Given the description of an element on the screen output the (x, y) to click on. 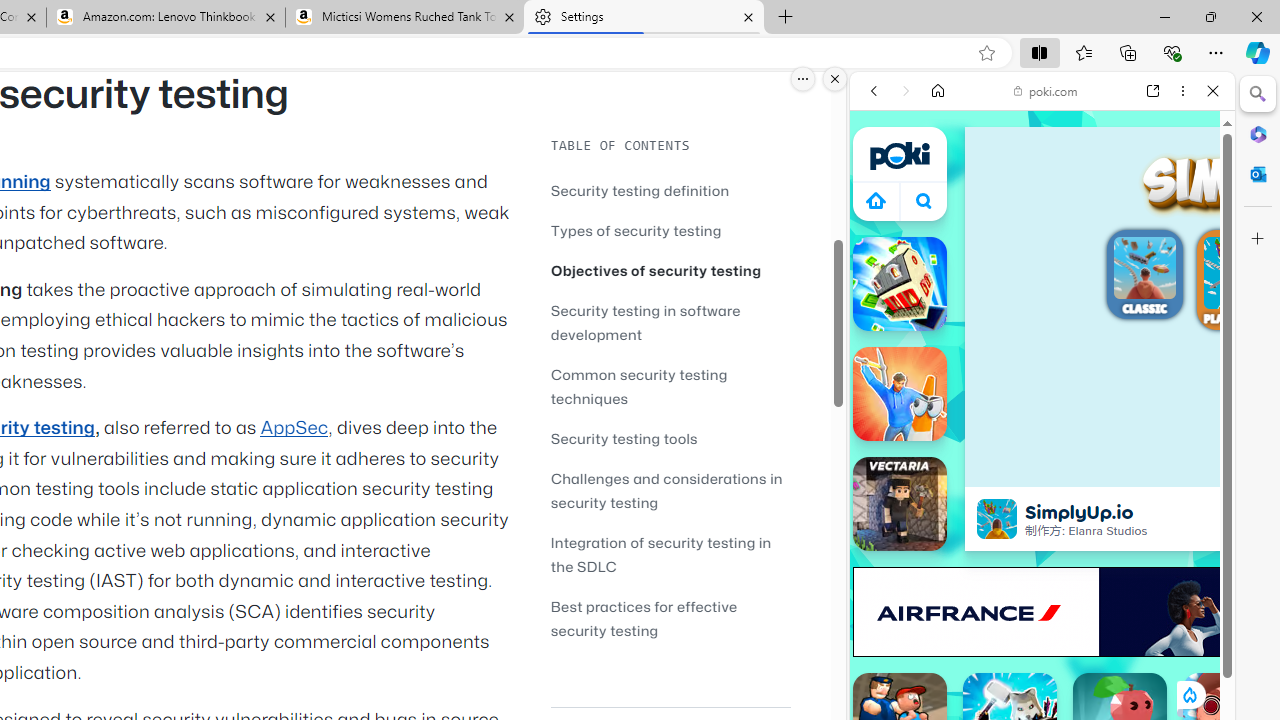
Two Player Games (1042, 567)
Simply Prop Hunt (899, 393)
PLAYGROUND (1240, 282)
Io Games (1042, 616)
CLASSIC (1144, 277)
Class: rounded img-fluid d-block w-100 fit-cover (1240, 273)
Objectives of security testing (670, 269)
Security testing definition (639, 190)
Best practices for effective security testing (644, 618)
